Given the description of an element on the screen output the (x, y) to click on. 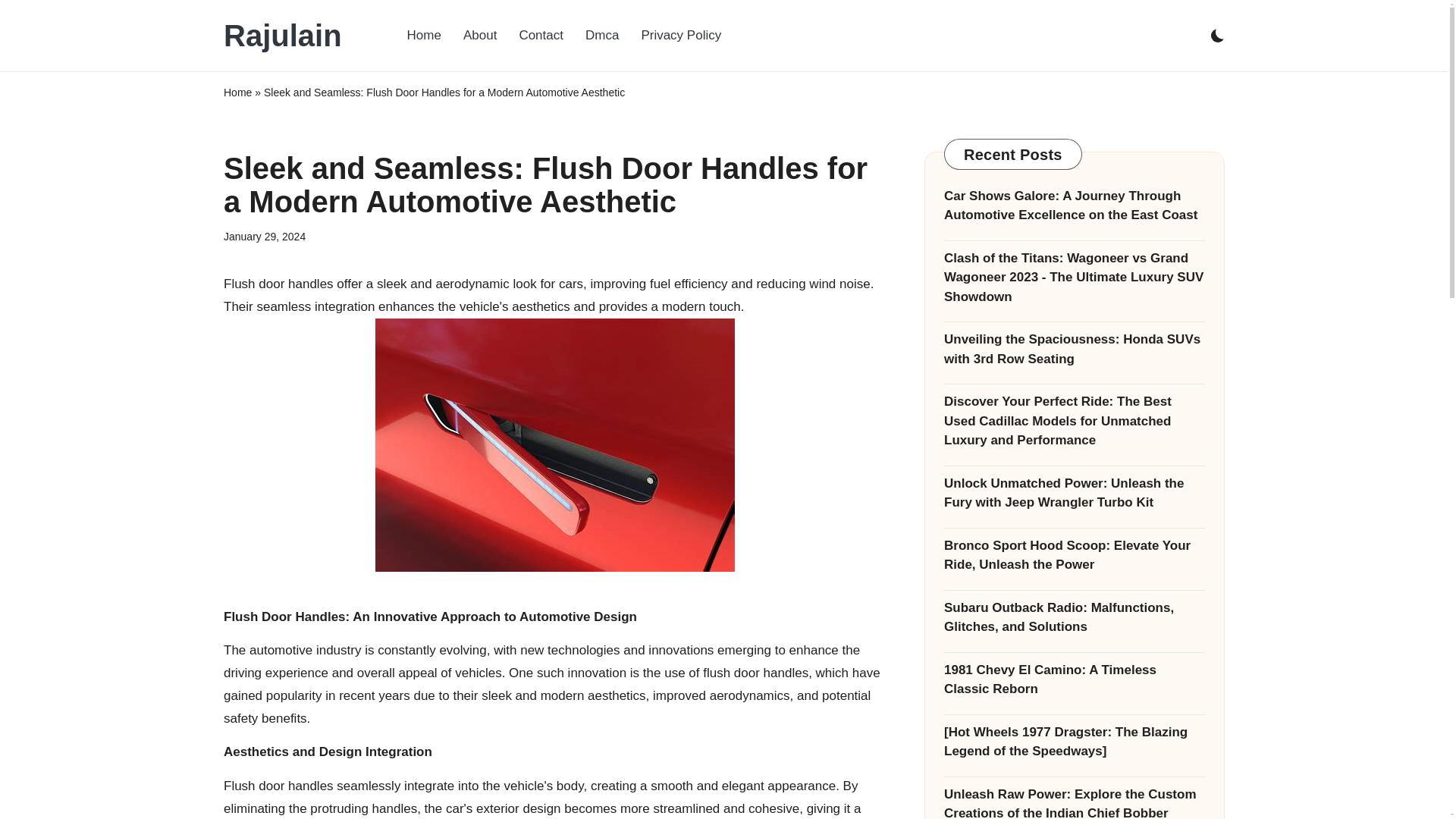
Unveiling the Spaciousness: Honda SUVs with 3rd Row Seating (1074, 349)
Home (423, 35)
About (479, 35)
Rajulain (283, 35)
Privacy Policy (681, 35)
Dmca (601, 35)
Subaru Outback Radio: Malfunctions, Glitches, and Solutions (1074, 616)
Home (237, 92)
Contact (540, 35)
